Given the description of an element on the screen output the (x, y) to click on. 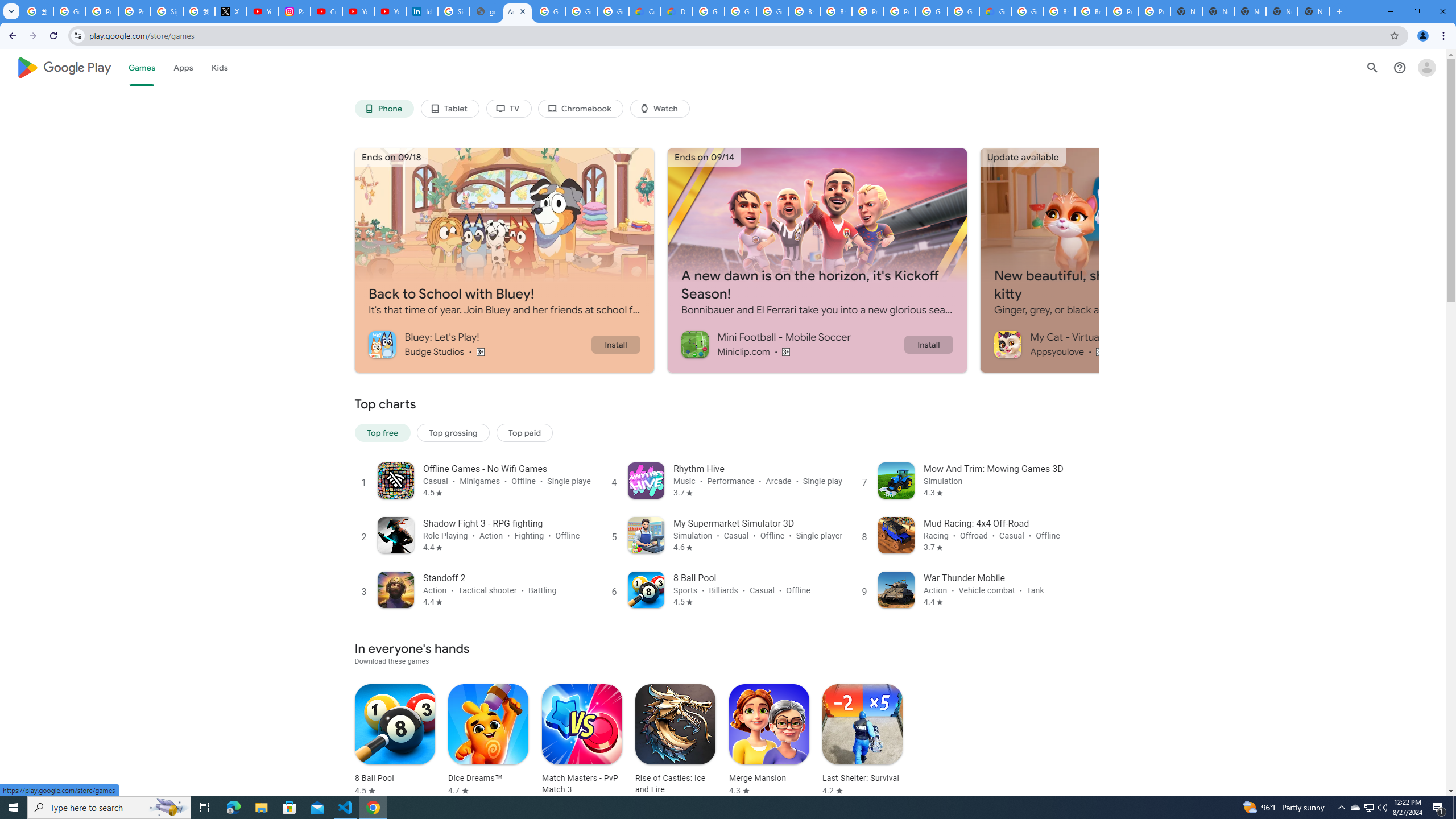
google_privacy_policy_en.pdf (485, 11)
Google Play logo (64, 67)
Last Shelter: Survival Rated 4.2 stars out of five stars (862, 739)
Top grossing (452, 432)
8 Ball Pool Rated 4.5 stars out of five stars (394, 739)
Help Center (1399, 67)
Google Workspace - Specific Terms (581, 11)
